Given the description of an element on the screen output the (x, y) to click on. 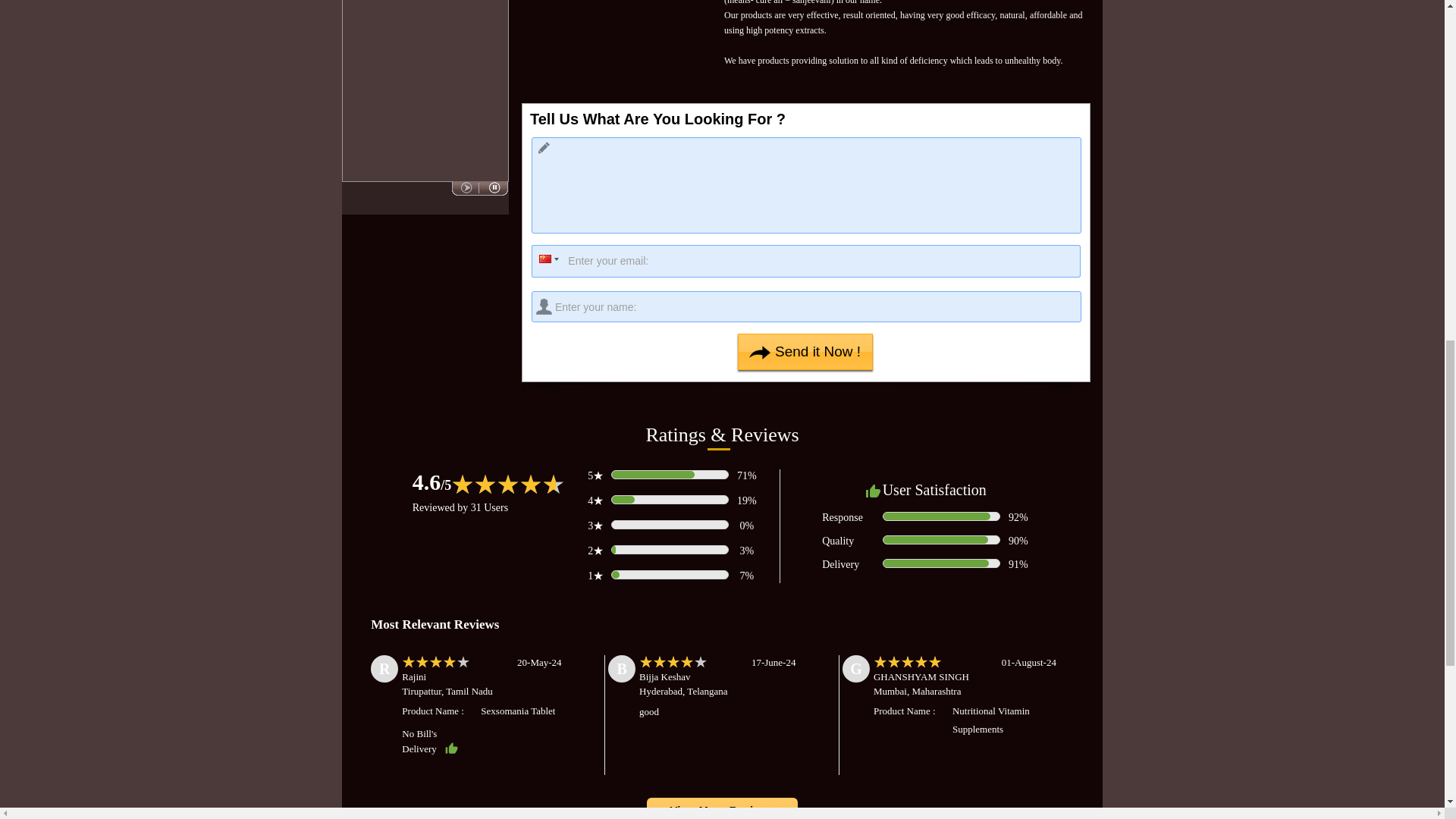
Enter your email: (805, 260)
Send it Now ! (805, 351)
4.6 out of 5 Votes (431, 481)
Send it Now ! (805, 351)
Enter your name: (806, 306)
